Given the description of an element on the screen output the (x, y) to click on. 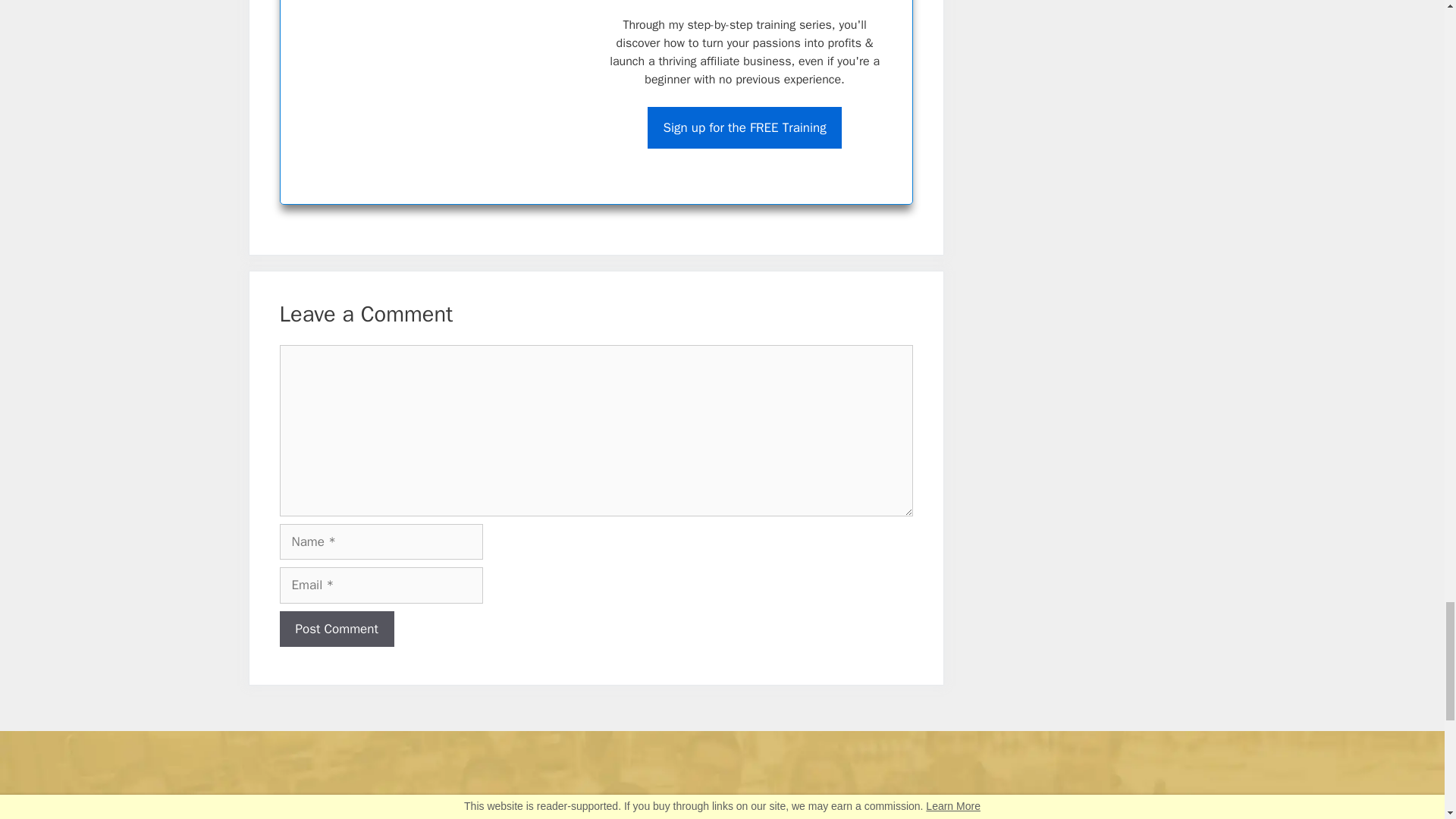
Sign up for the FREE Training (744, 128)
Post Comment (336, 628)
Post Comment (336, 628)
